Given the description of an element on the screen output the (x, y) to click on. 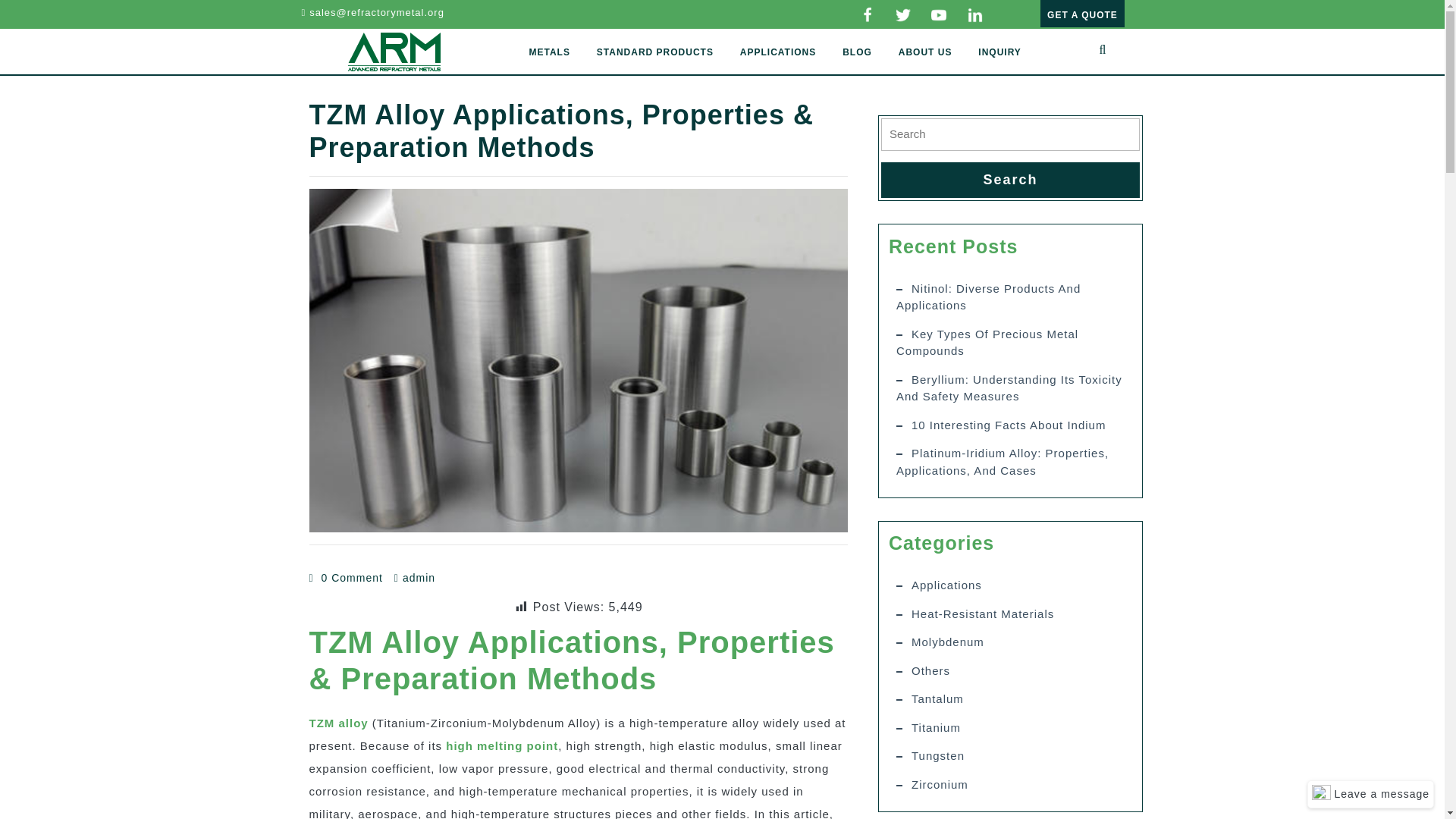
BLOG (857, 51)
APPLICATIONS (778, 51)
GET A QUOTE (1082, 13)
ABOUT US (924, 51)
Search (1010, 180)
Search (1010, 180)
METALS (548, 51)
STANDARD PRODUCTS (655, 51)
